Given the description of an element on the screen output the (x, y) to click on. 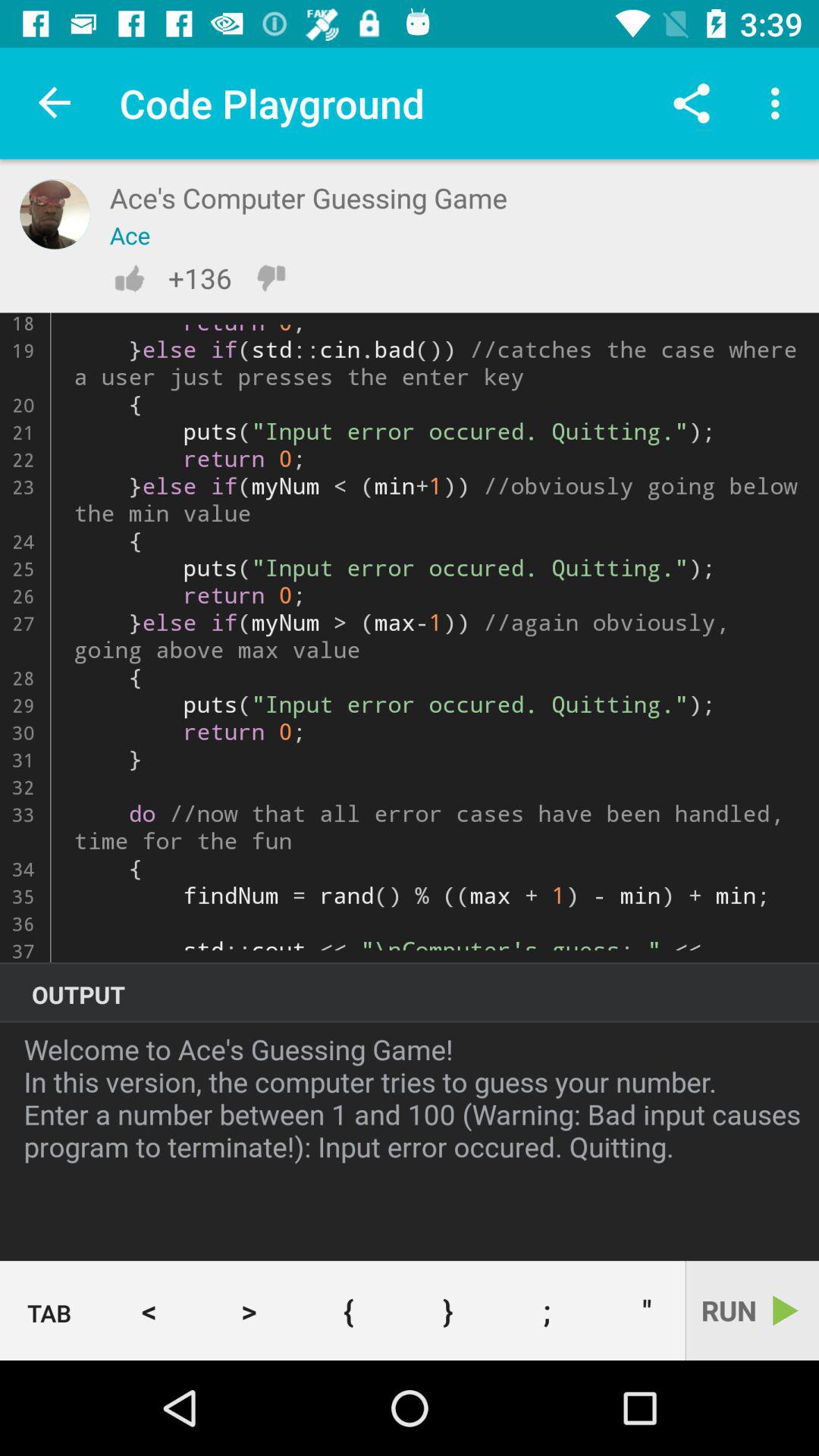
open the ; button (547, 1310)
